Given the description of an element on the screen output the (x, y) to click on. 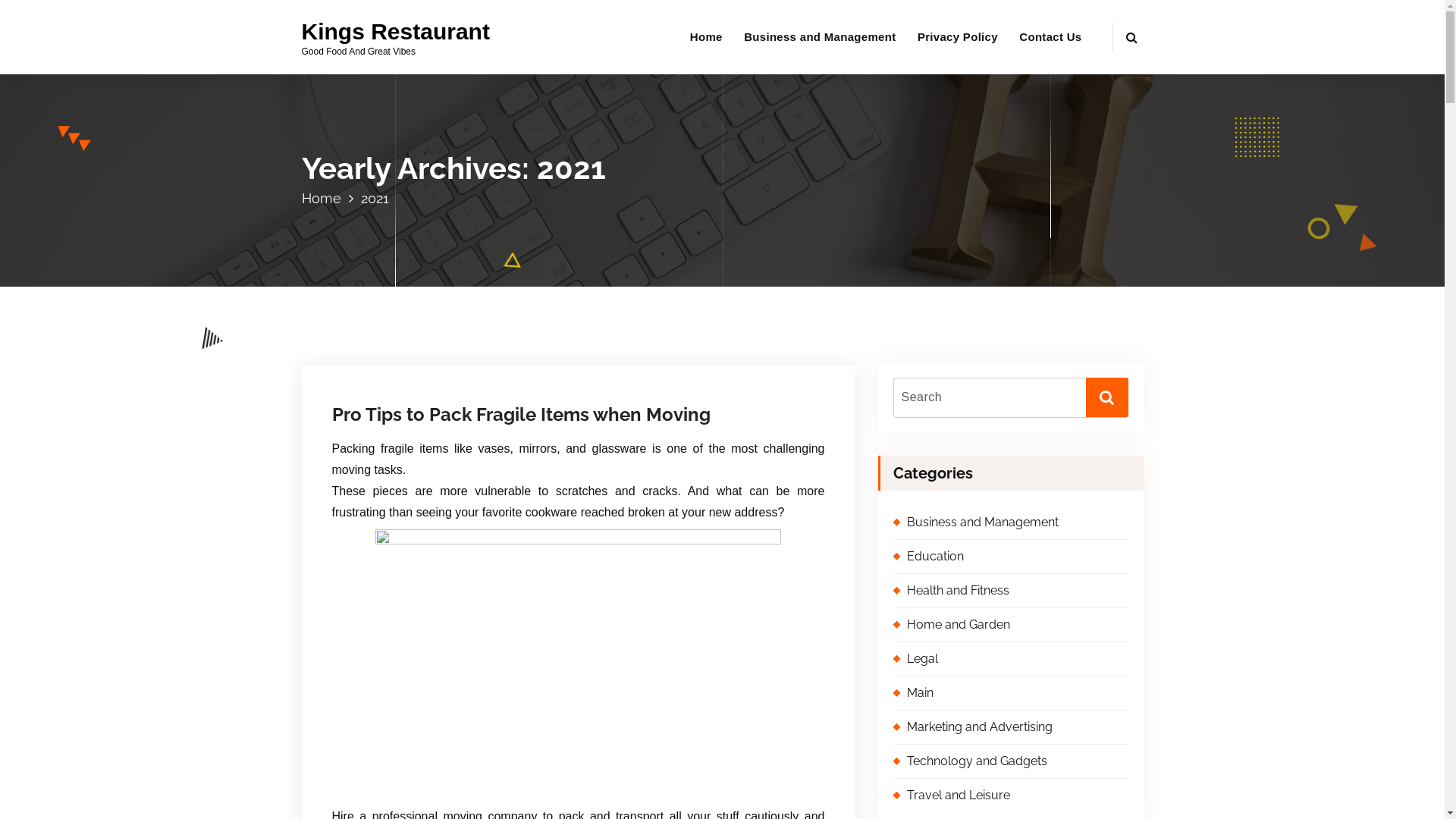
Health and Fitness Element type: text (1010, 590)
Business and Management Element type: text (819, 36)
Business and Management Element type: text (1010, 522)
Travel and Leisure Element type: text (1010, 795)
Privacy Policy Element type: text (957, 36)
Contact Us Element type: text (1050, 36)
Legal Element type: text (1010, 658)
Technology and Gadgets Element type: text (1010, 761)
Home Element type: text (706, 36)
Pro Tips to Pack Fragile Items when Moving Element type: text (578, 414)
Education Element type: text (1010, 556)
Home Element type: text (327, 198)
Kings Restaurant Element type: text (395, 31)
Main Element type: text (1010, 692)
Marketing and Advertising Element type: text (1010, 726)
Home and Garden Element type: text (1010, 624)
